Given the description of an element on the screen output the (x, y) to click on. 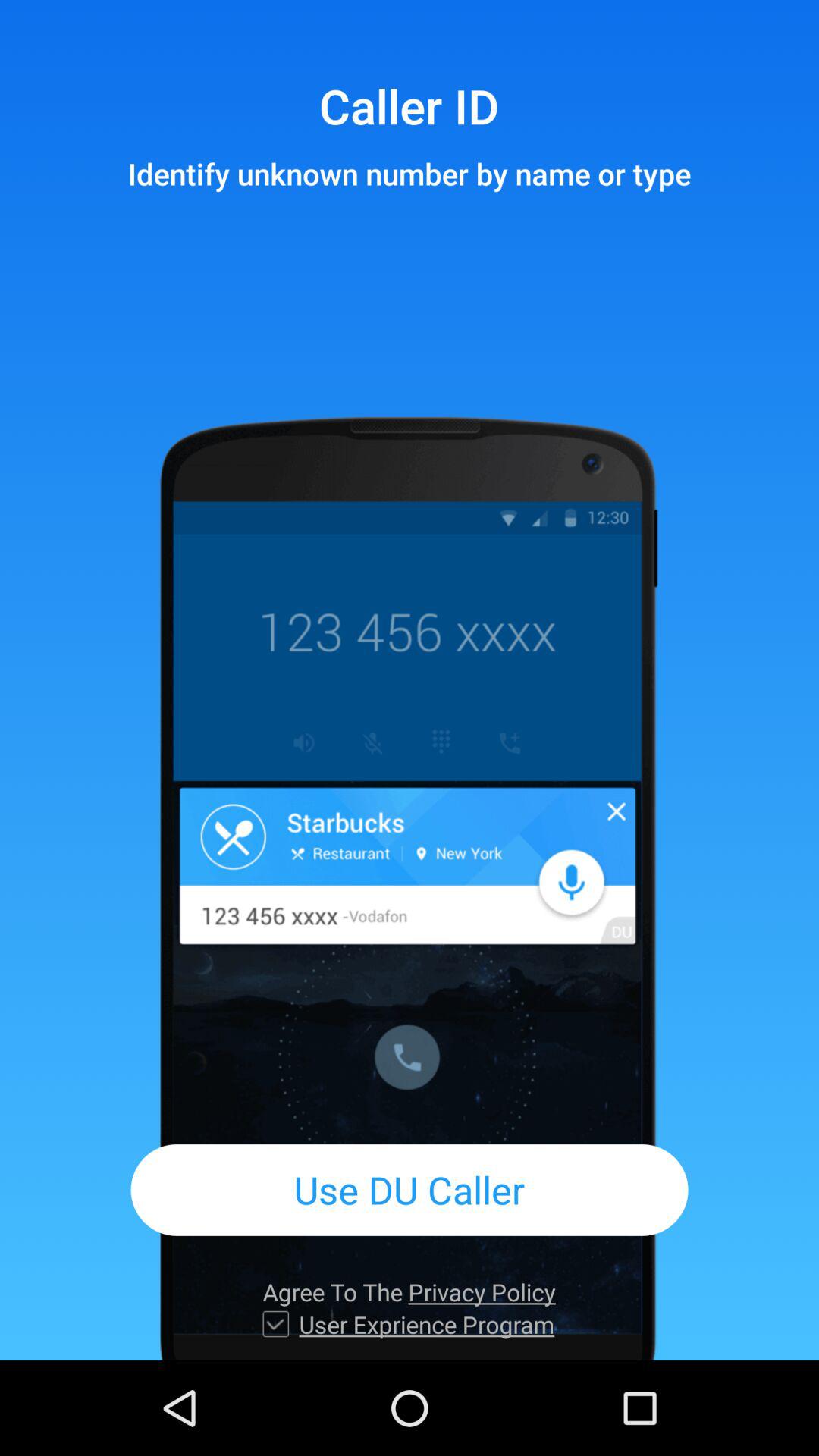
press item above user exprience program item (408, 1291)
